Given the description of an element on the screen output the (x, y) to click on. 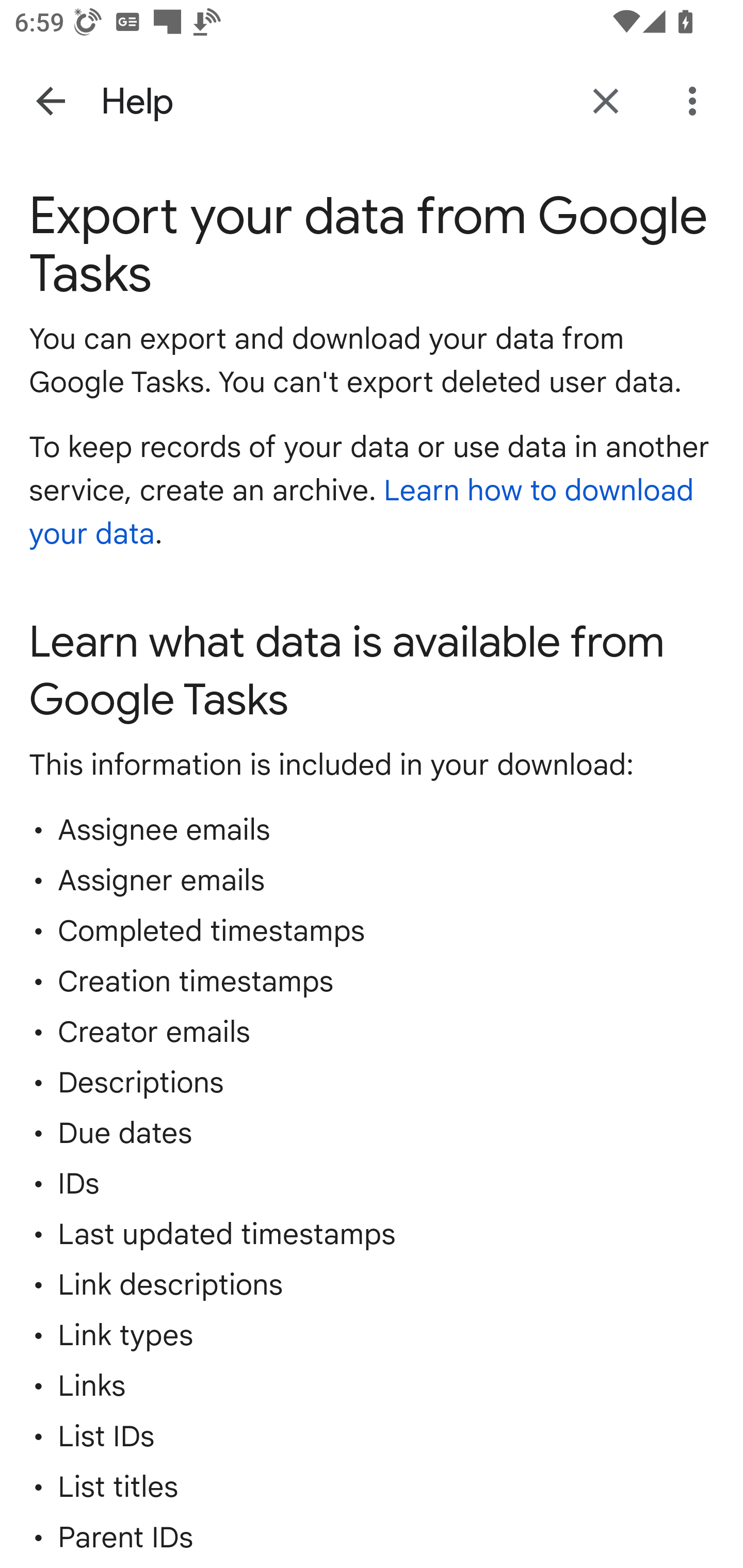
Navigate up (50, 101)
Return to Tasks (605, 101)
More options (696, 101)
Learn how to download your data (361, 513)
